Given the description of an element on the screen output the (x, y) to click on. 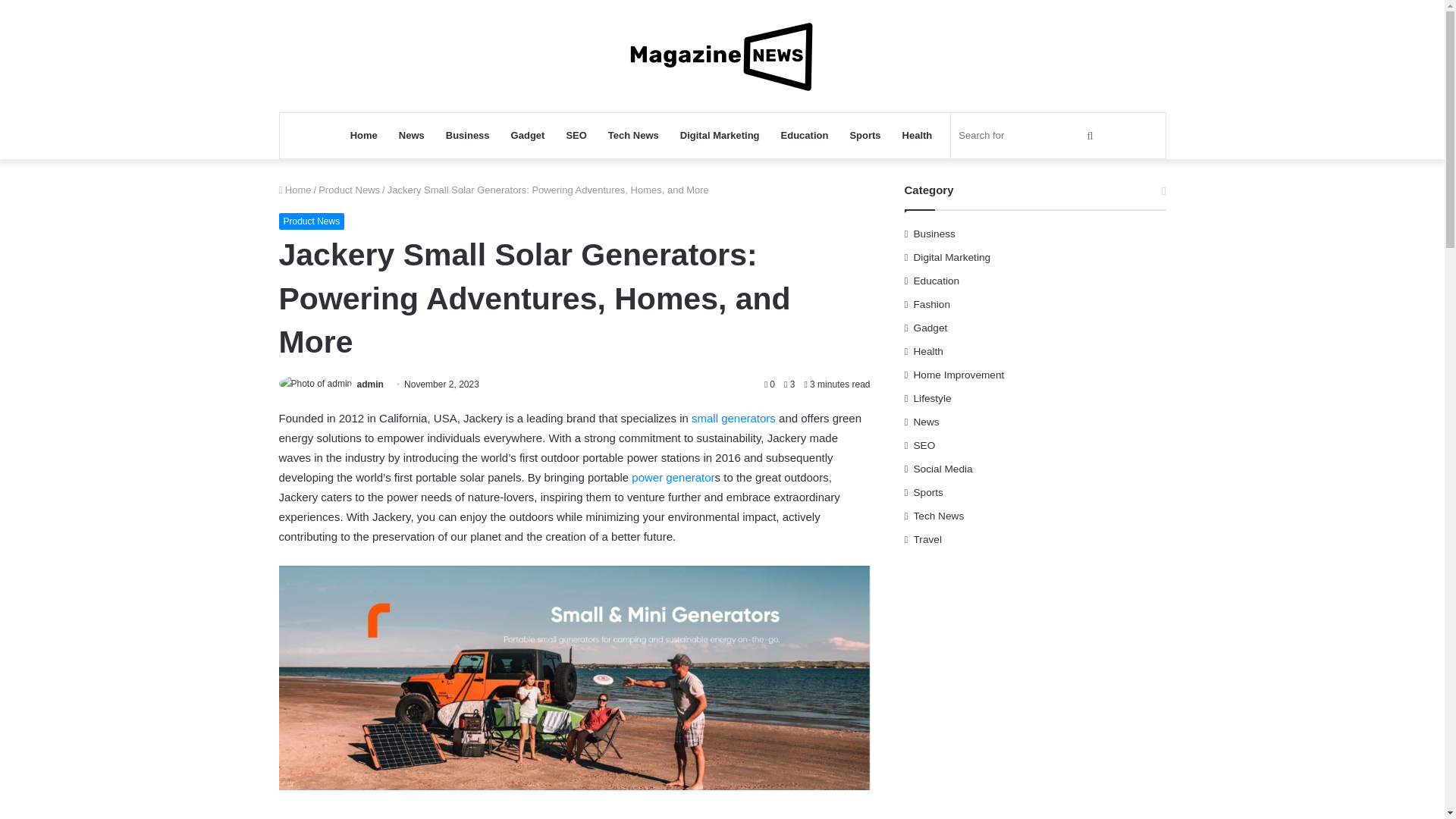
Home (295, 189)
admin (370, 384)
Health (917, 135)
SEO (575, 135)
Product News (349, 189)
power generator (672, 477)
Sports (864, 135)
Business (467, 135)
Digital Marketing (719, 135)
Search for (1027, 135)
